Given the description of an element on the screen output the (x, y) to click on. 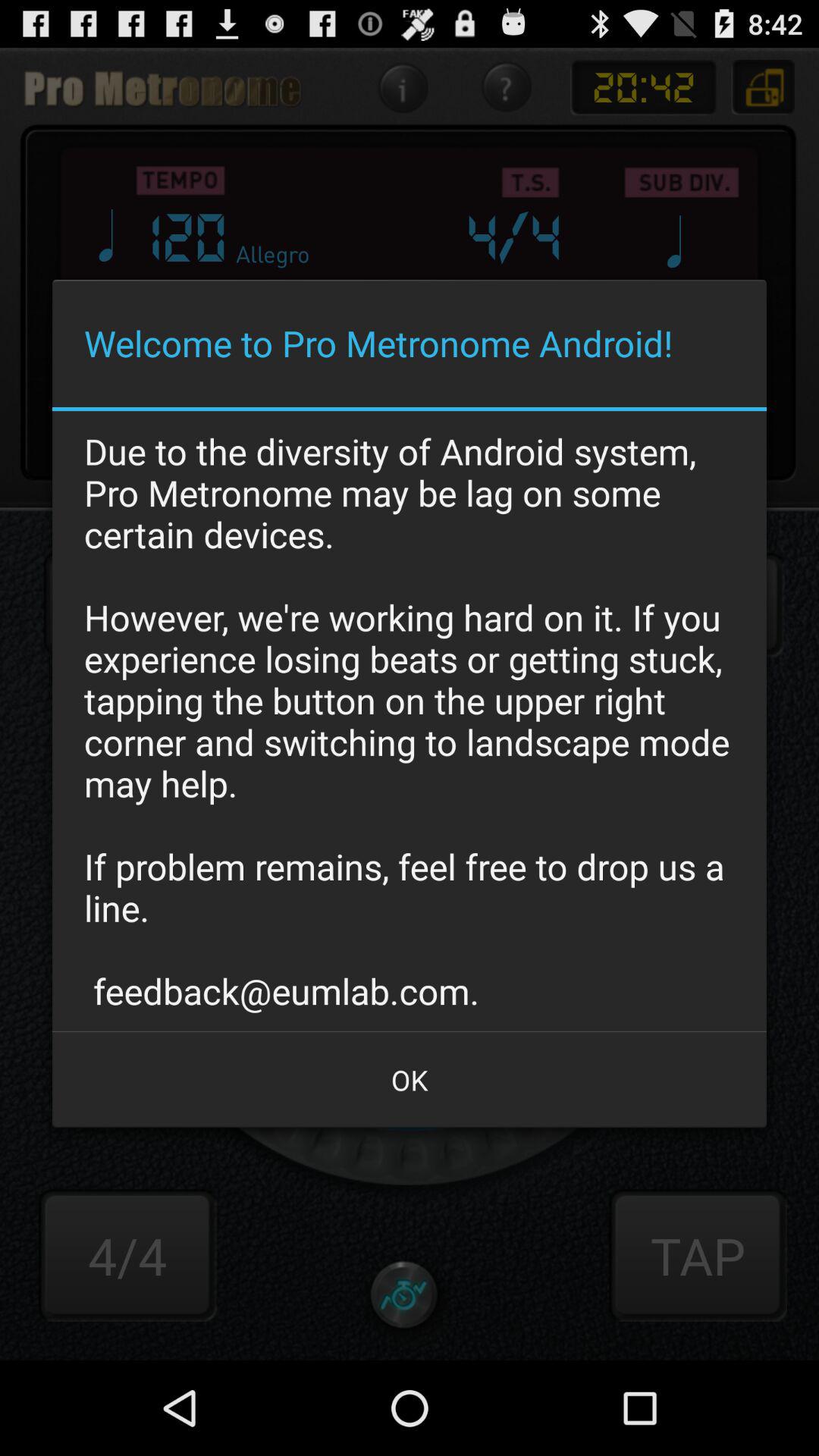
flip to the ok (409, 1079)
